Given the description of an element on the screen output the (x, y) to click on. 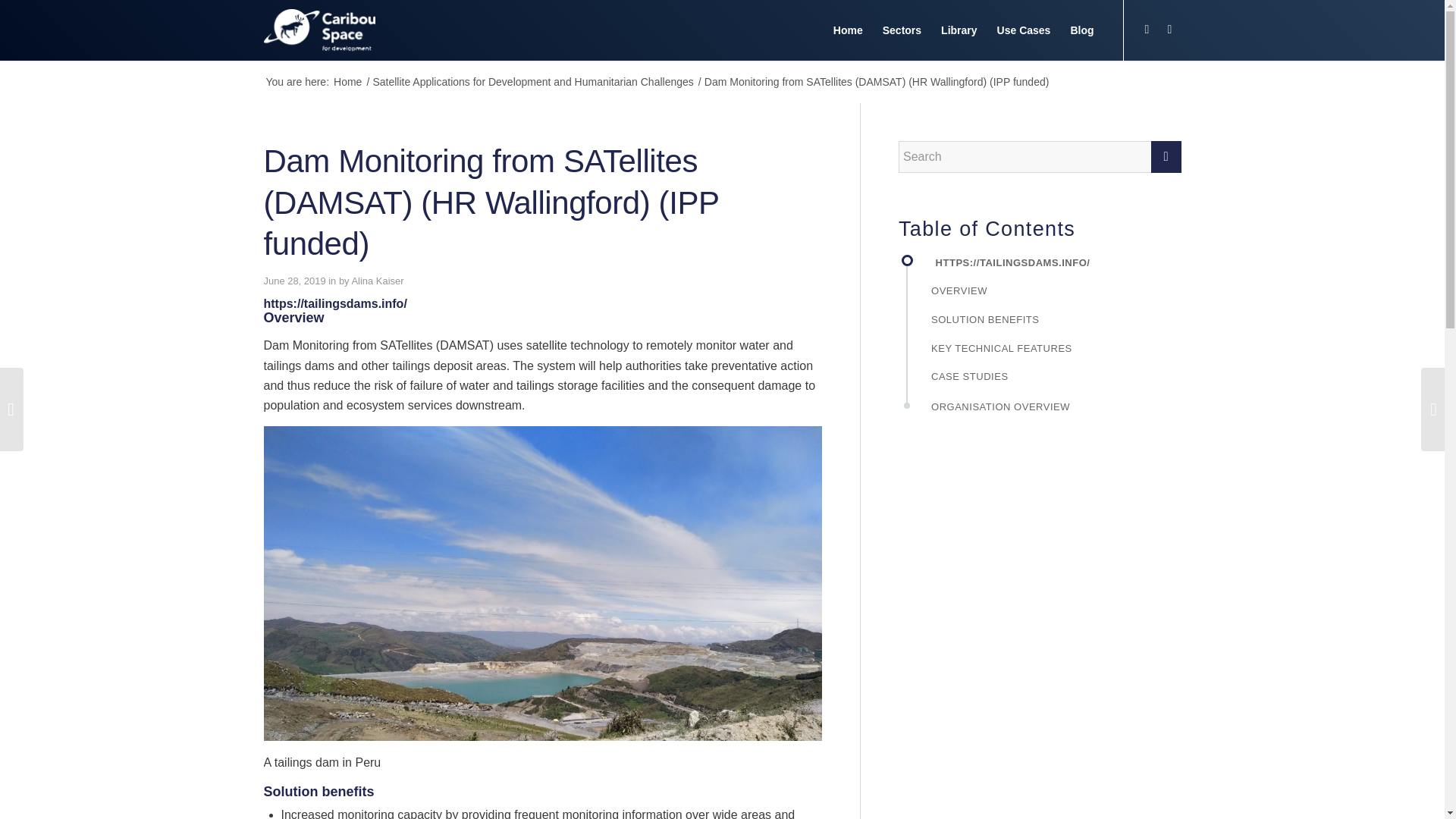
Home (347, 81)
CASE STUDIES (1050, 384)
Home (848, 30)
LinkedIn (1169, 29)
Posts by Alina Kaiser (376, 280)
Blog (1081, 30)
Sectors (901, 30)
Alina Kaiser (376, 280)
Library (959, 30)
SOLUTION BENEFITS (1050, 327)
ORGANISATION OVERVIEW (1050, 413)
Use Cases (1024, 30)
Space for Development (347, 81)
OVERVIEW (1050, 298)
